Given the description of an element on the screen output the (x, y) to click on. 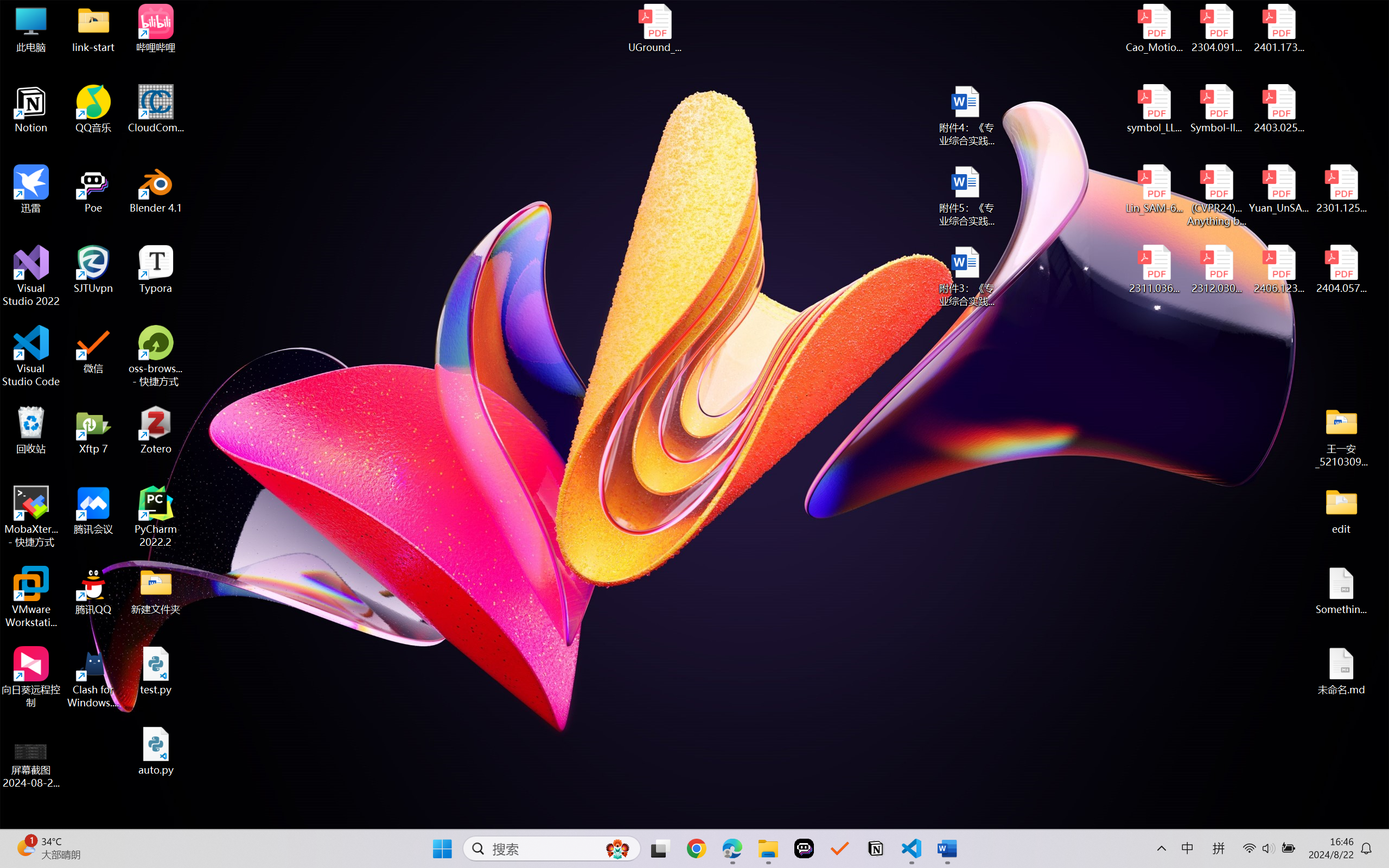
CloudCompare (156, 109)
(CVPR24)Matching Anything by Segmenting Anything.pdf (1216, 195)
auto.py (156, 751)
2304.09121v3.pdf (1216, 28)
edit (1340, 510)
Typora (156, 269)
